Given the description of an element on the screen output the (x, y) to click on. 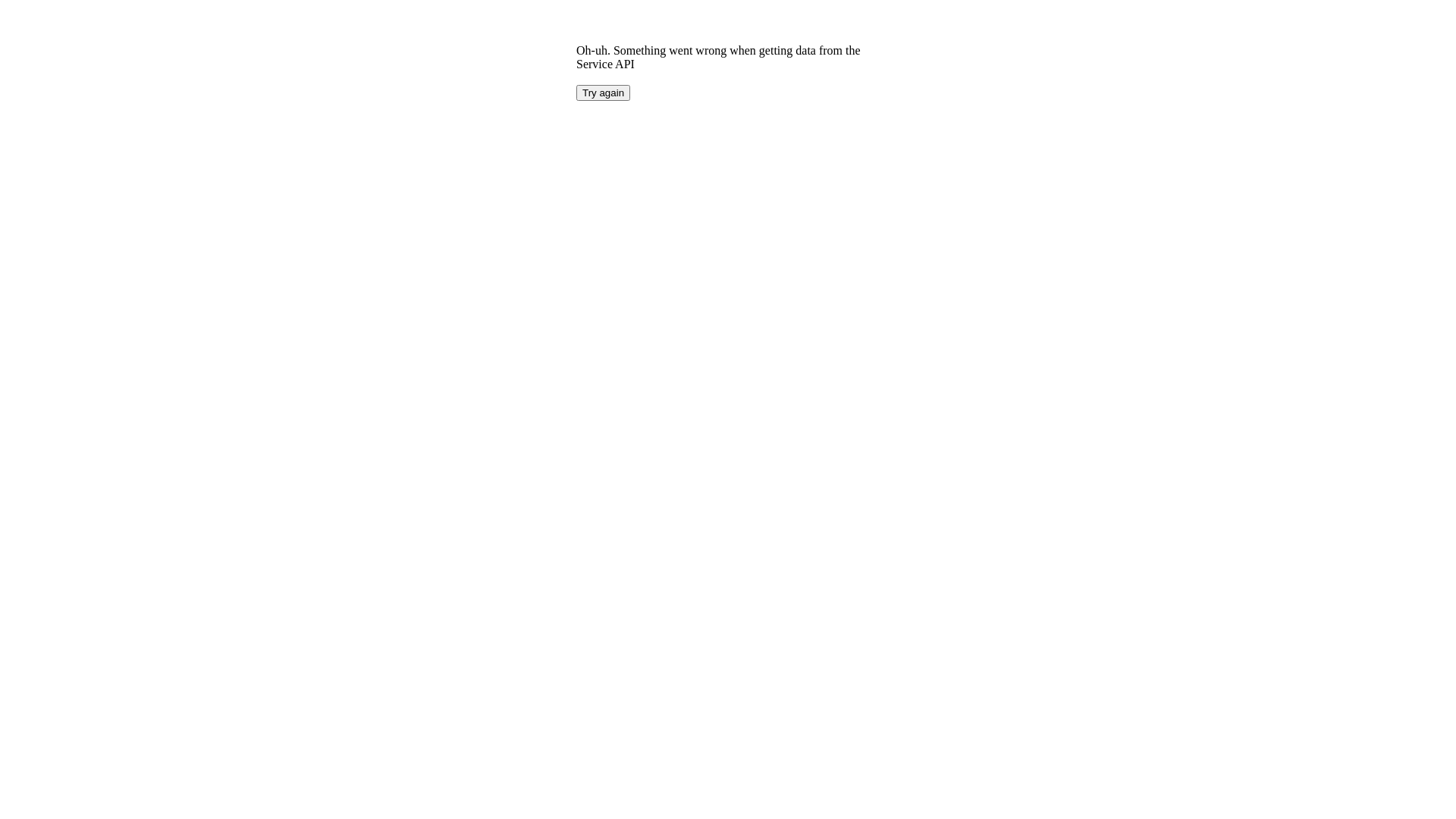
Try again Element type: text (603, 92)
